Given the description of an element on the screen output the (x, y) to click on. 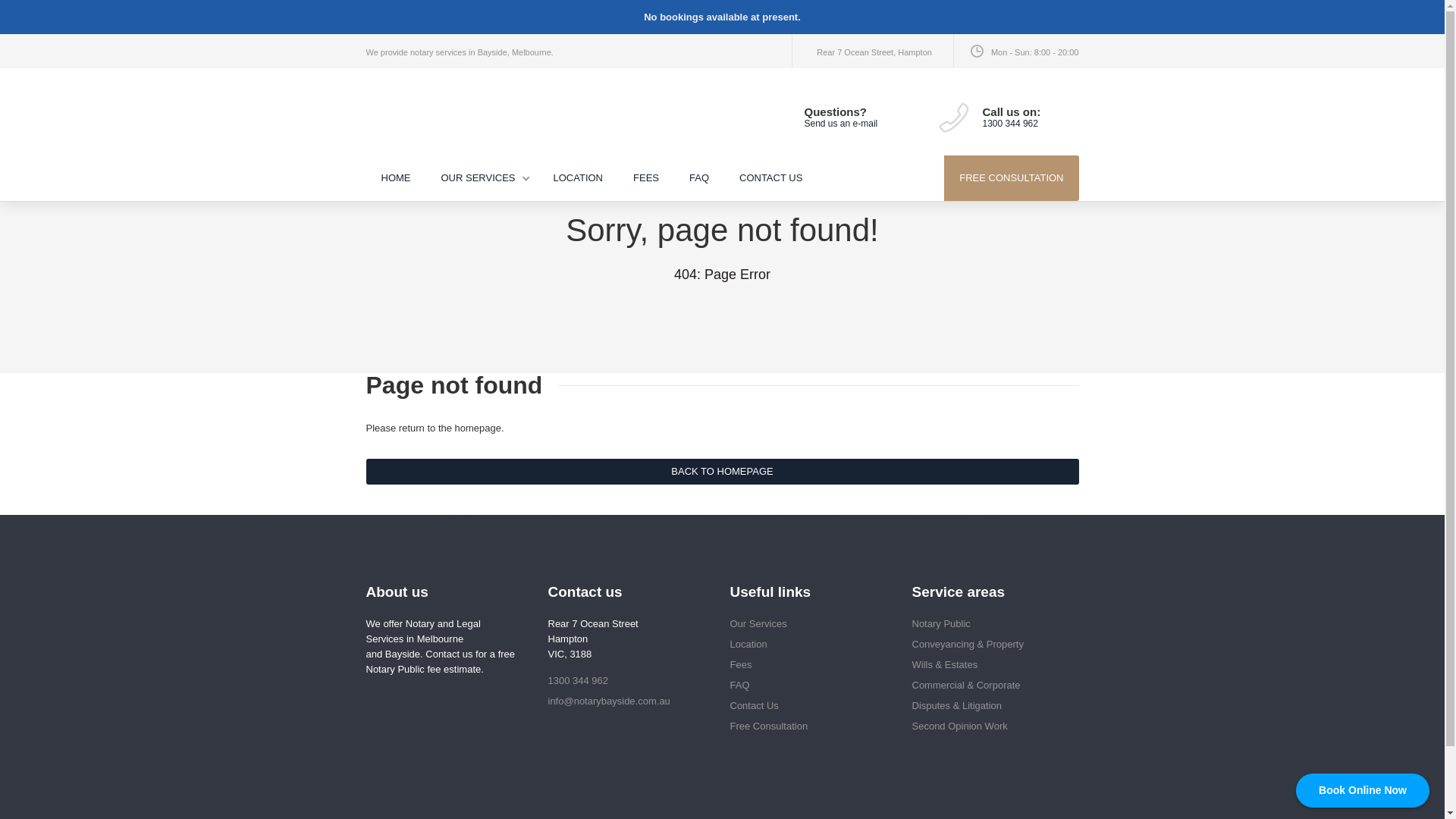
Disputes & Litigation Element type: text (986, 705)
Notary Public Element type: text (986, 623)
Contact Us Element type: text (804, 705)
LOCATION Element type: text (578, 177)
Rear 7 Ocean Street, Hampton Element type: text (873, 52)
Send us an e-mail Element type: text (840, 123)
Fees Element type: text (804, 664)
CONTACT US Element type: text (770, 177)
BACK TO HOMEPAGE Element type: text (721, 471)
Commercial & Corporate Element type: text (986, 685)
FAQ Element type: text (804, 685)
Our Services Element type: text (804, 623)
Free Consultation Element type: text (804, 726)
HOME Element type: text (395, 177)
Second Opinion Work Element type: text (986, 726)
info@notarybayside.com.au Element type: text (622, 701)
Conveyancing & Property Element type: text (986, 644)
1300 344 962 Element type: text (622, 680)
Location Element type: text (804, 644)
Wills & Estates Element type: text (986, 664)
FAQ Element type: text (699, 177)
FREE CONSULTATION Element type: text (1011, 177)
FEES Element type: text (646, 177)
1300 344 962 Element type: text (1010, 123)
